Given the description of an element on the screen output the (x, y) to click on. 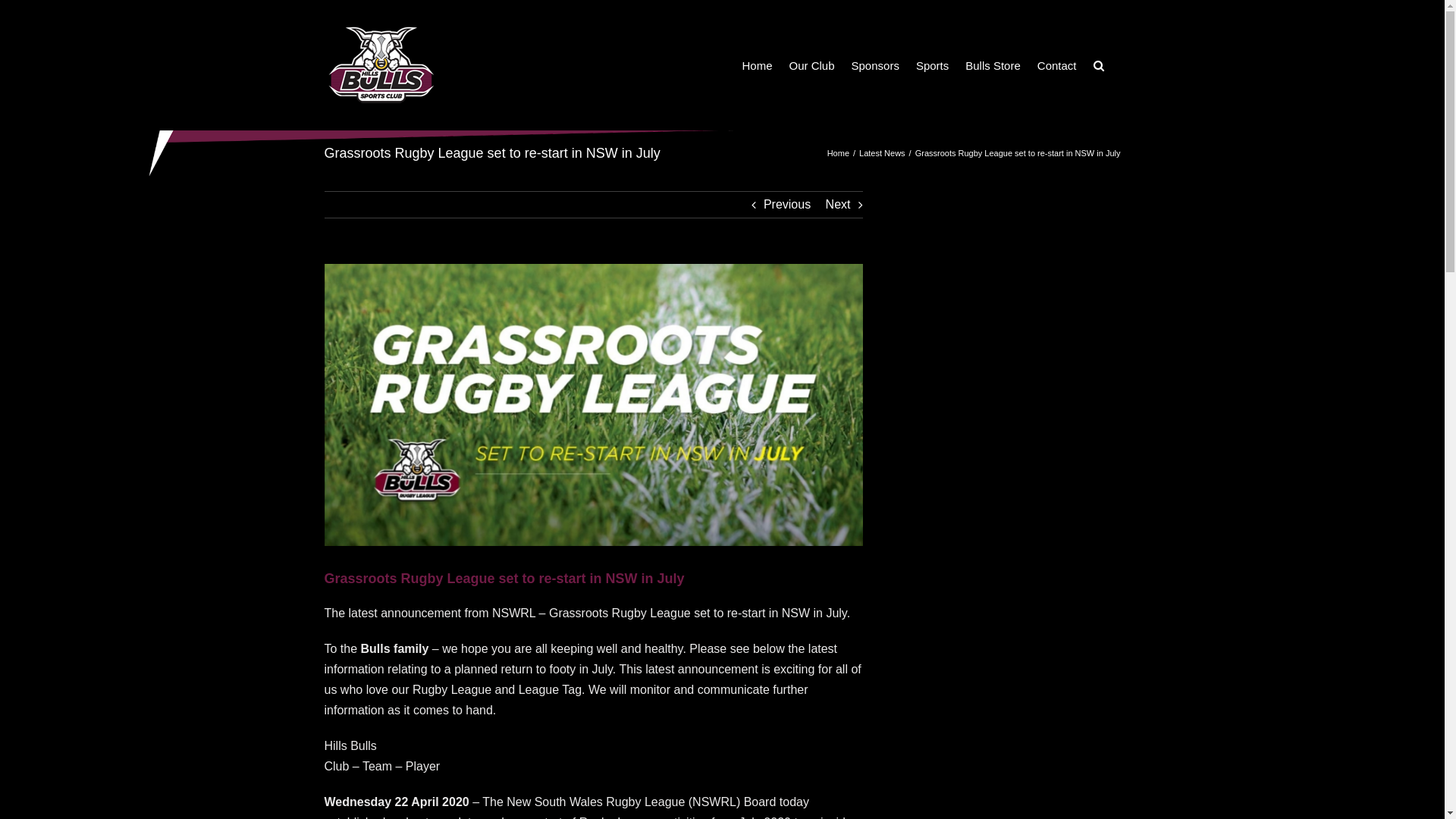
Next Element type: text (837, 204)
Contact Element type: text (1056, 65)
Bulls Store Element type: text (992, 65)
Previous Element type: text (786, 204)
Home Element type: text (756, 65)
Sponsors Element type: text (875, 65)
Sports Element type: text (932, 65)
Search Element type: hover (1098, 65)
Our Club Element type: text (811, 65)
View Larger Image Element type: text (593, 404)
Home Element type: text (838, 152)
Latest News Element type: text (882, 152)
